Given the description of an element on the screen output the (x, y) to click on. 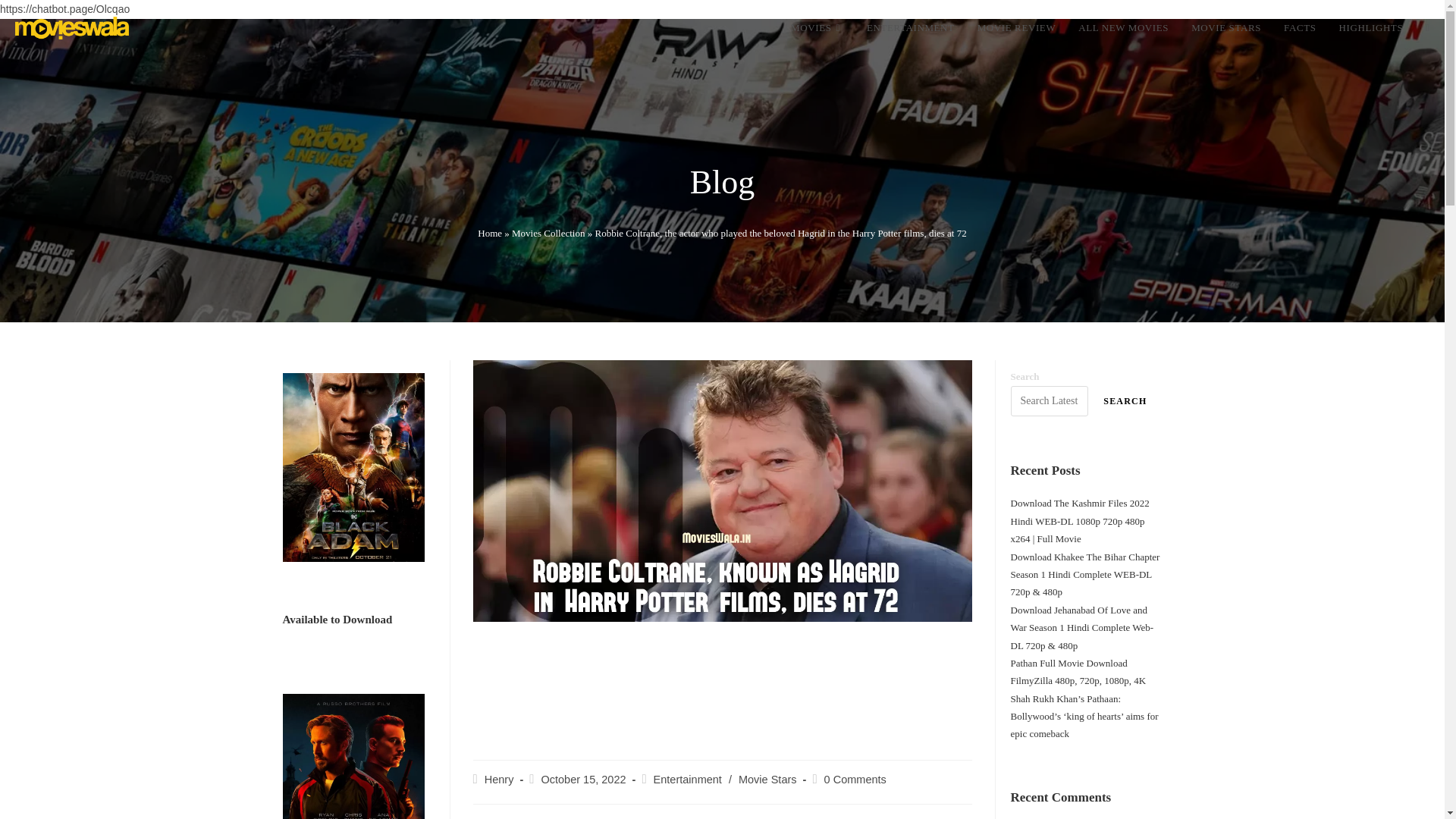
Posts by Henry (498, 779)
Entertainment (687, 779)
Henry (498, 779)
MOVIES (817, 28)
MOVIE STARS (1225, 28)
Movies Collection (548, 233)
MOVIE REVIEW (1016, 28)
ENTERTAINMENT (911, 28)
Home (489, 233)
0 Comments (855, 779)
